Given the description of an element on the screen output the (x, y) to click on. 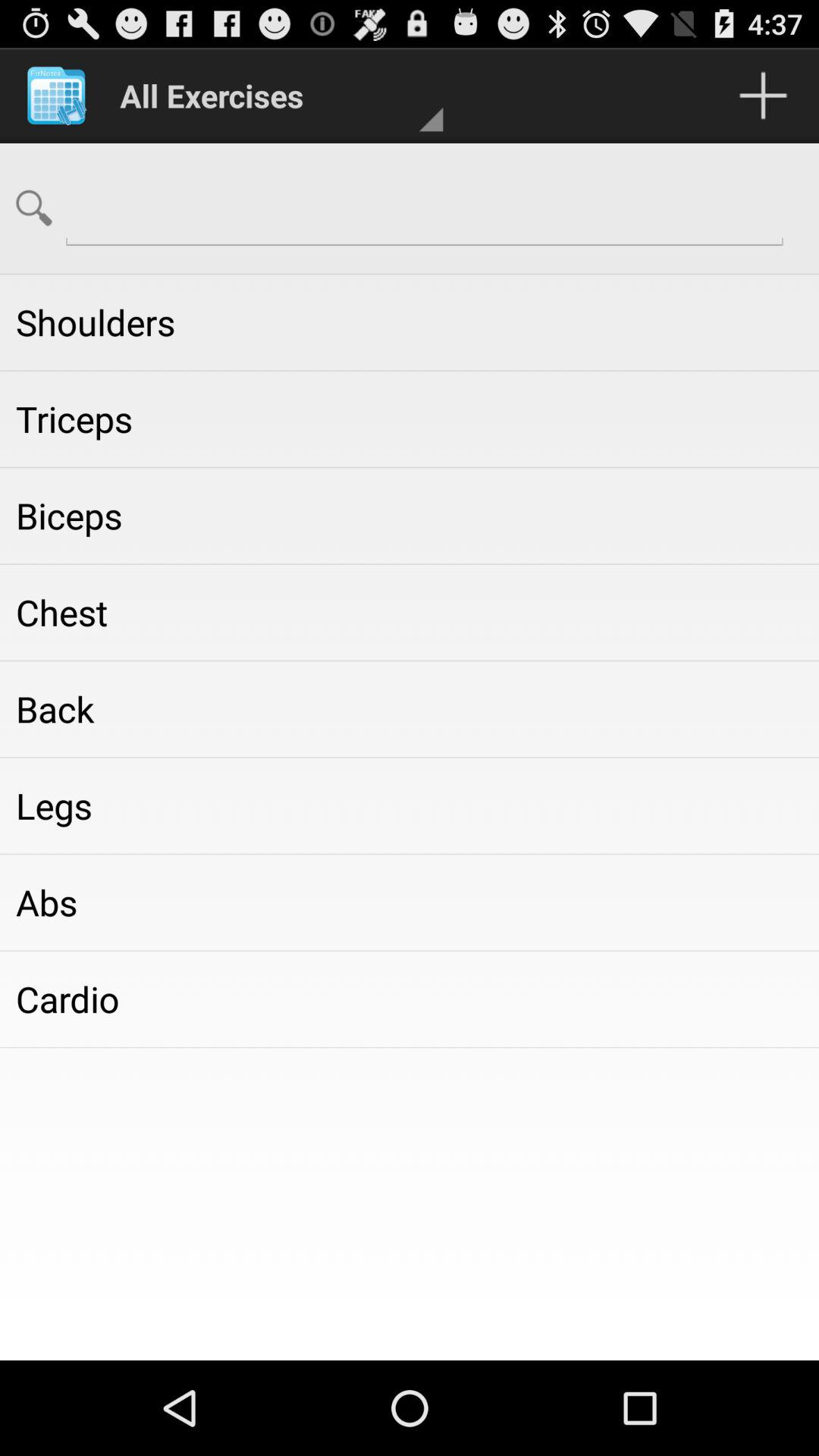
search bar (424, 206)
